Given the description of an element on the screen output the (x, y) to click on. 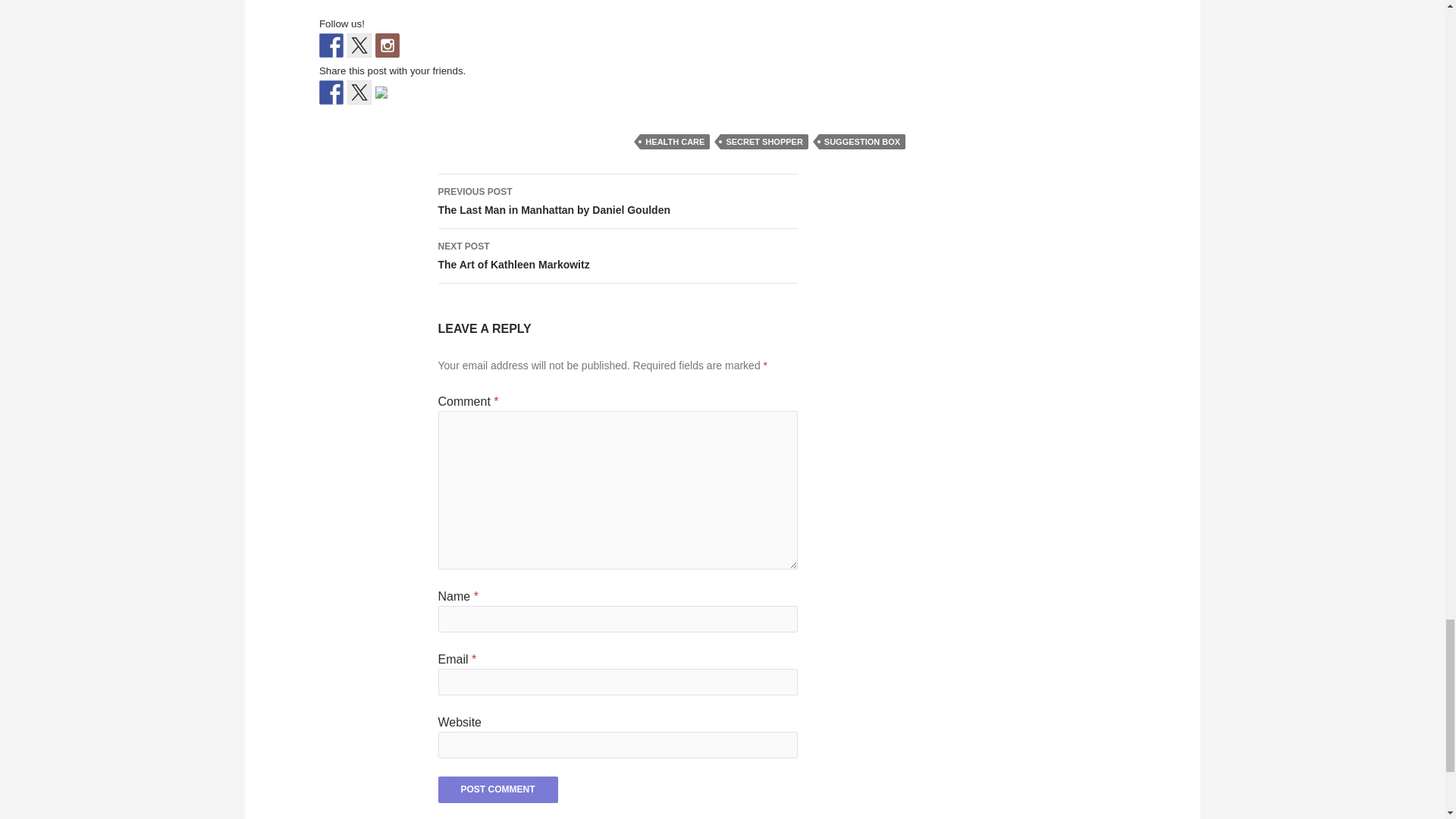
Pin it with Pinterest (386, 98)
Follow us on Facebook (330, 45)
Share on Facebook (330, 92)
Share on Twitter (359, 92)
Post Comment (497, 789)
Follow us on Twitter (359, 45)
Pin it with Pinterest (381, 92)
Check out our instagram feed (386, 45)
